Given the description of an element on the screen output the (x, y) to click on. 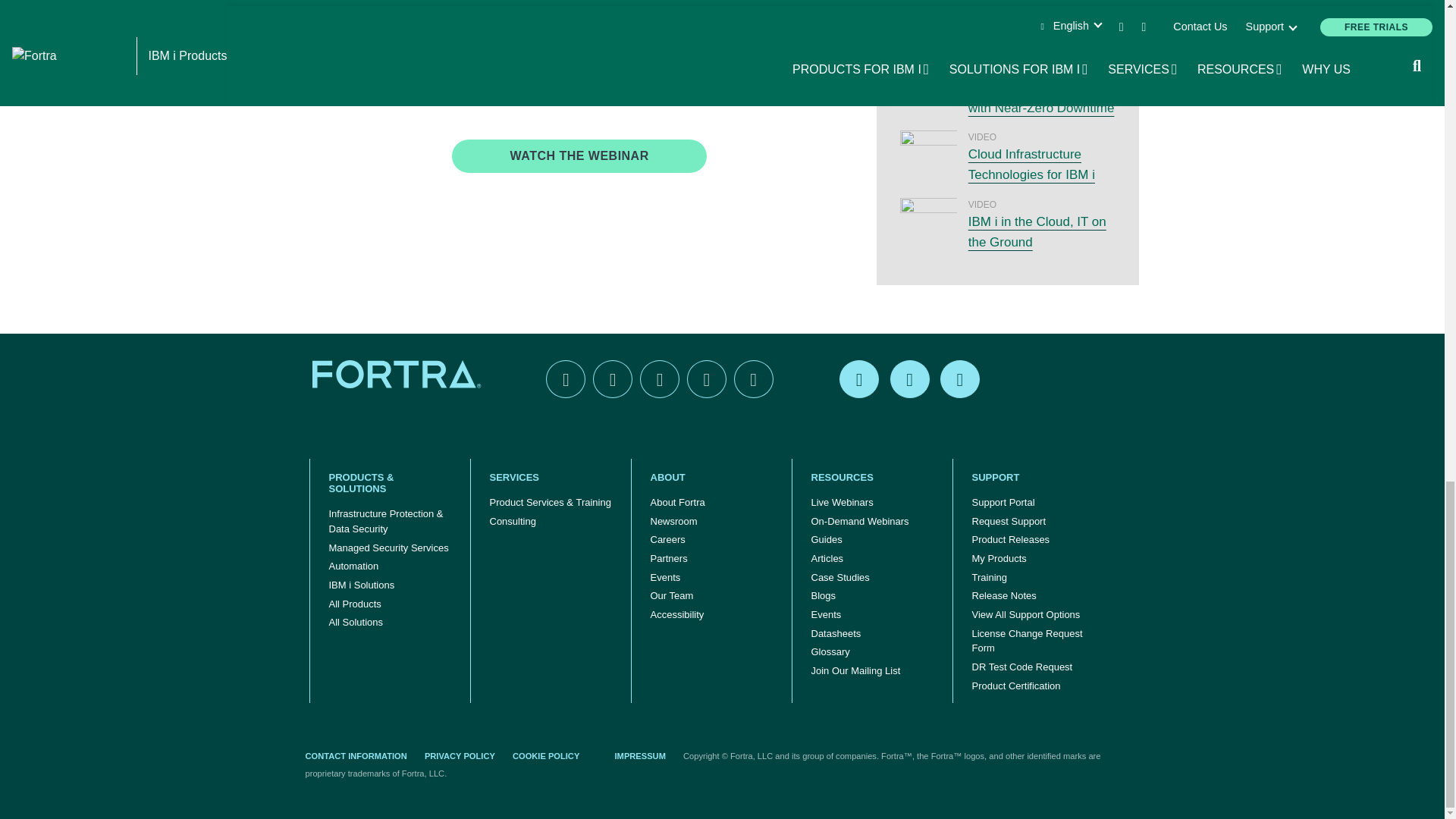
Home (398, 373)
